Given the description of an element on the screen output the (x, y) to click on. 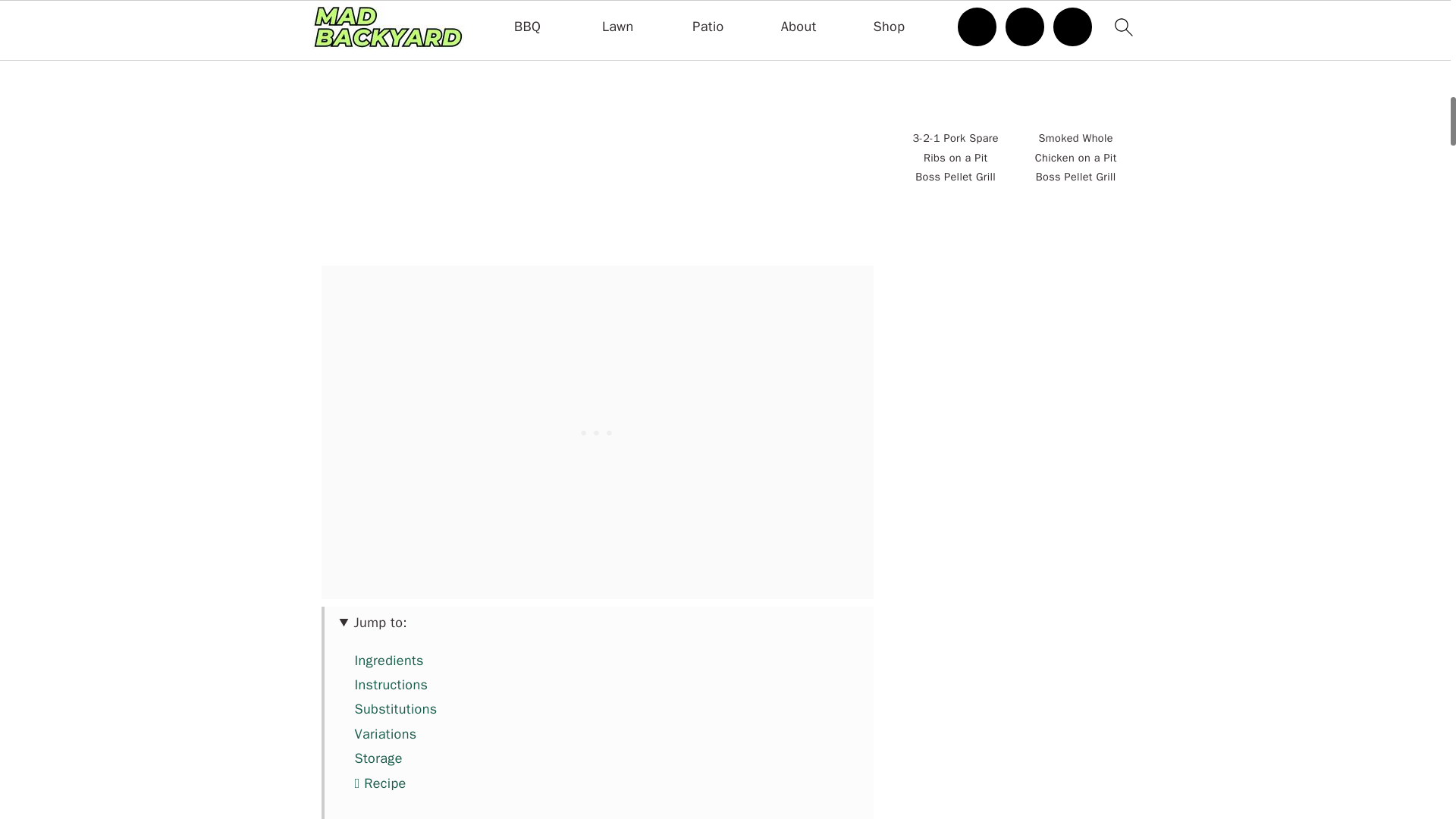
Ingredients (389, 660)
Instructions (391, 684)
